Given the description of an element on the screen output the (x, y) to click on. 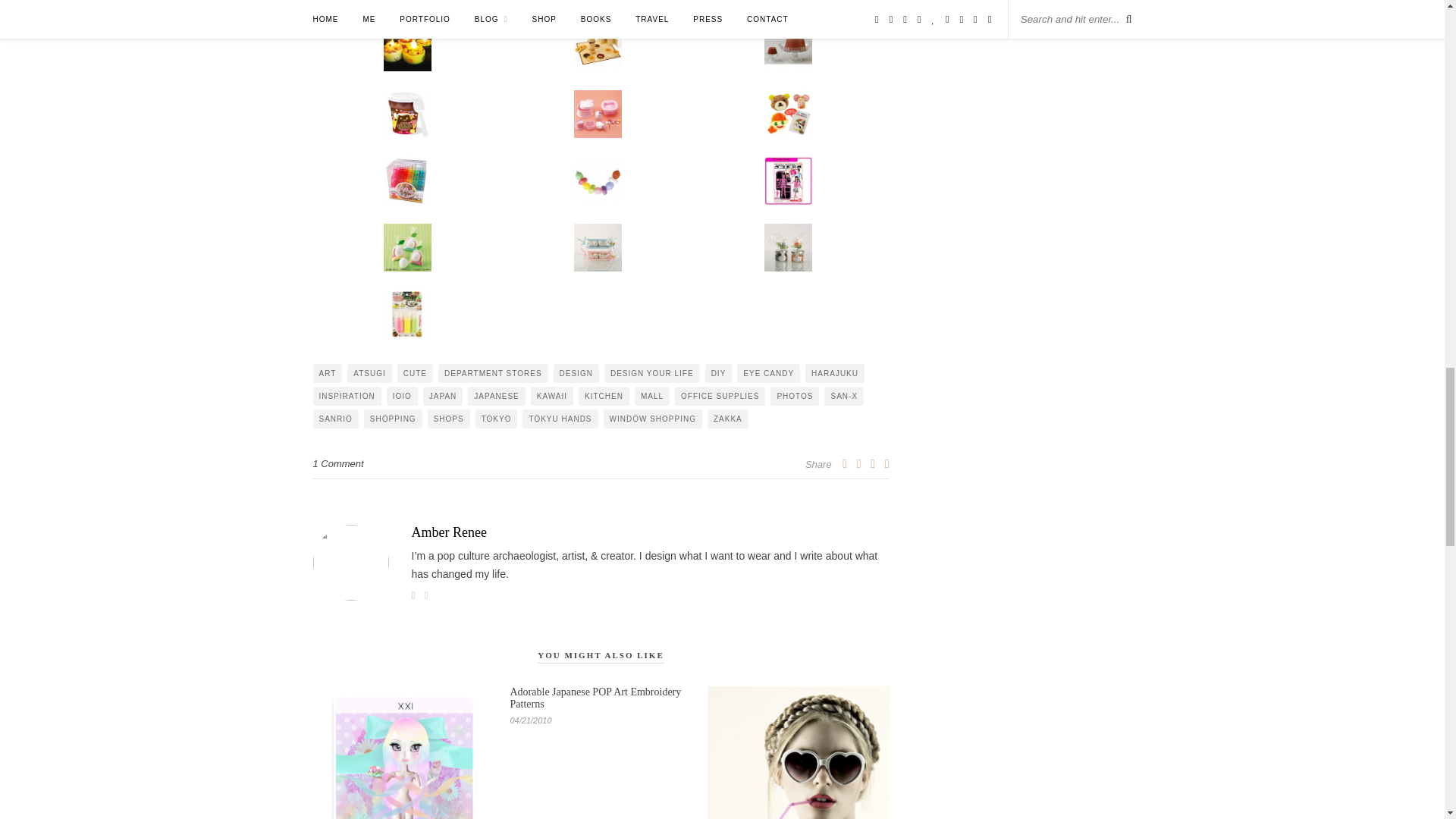
Posts by Amber Renee (600, 532)
